Given the description of an element on the screen output the (x, y) to click on. 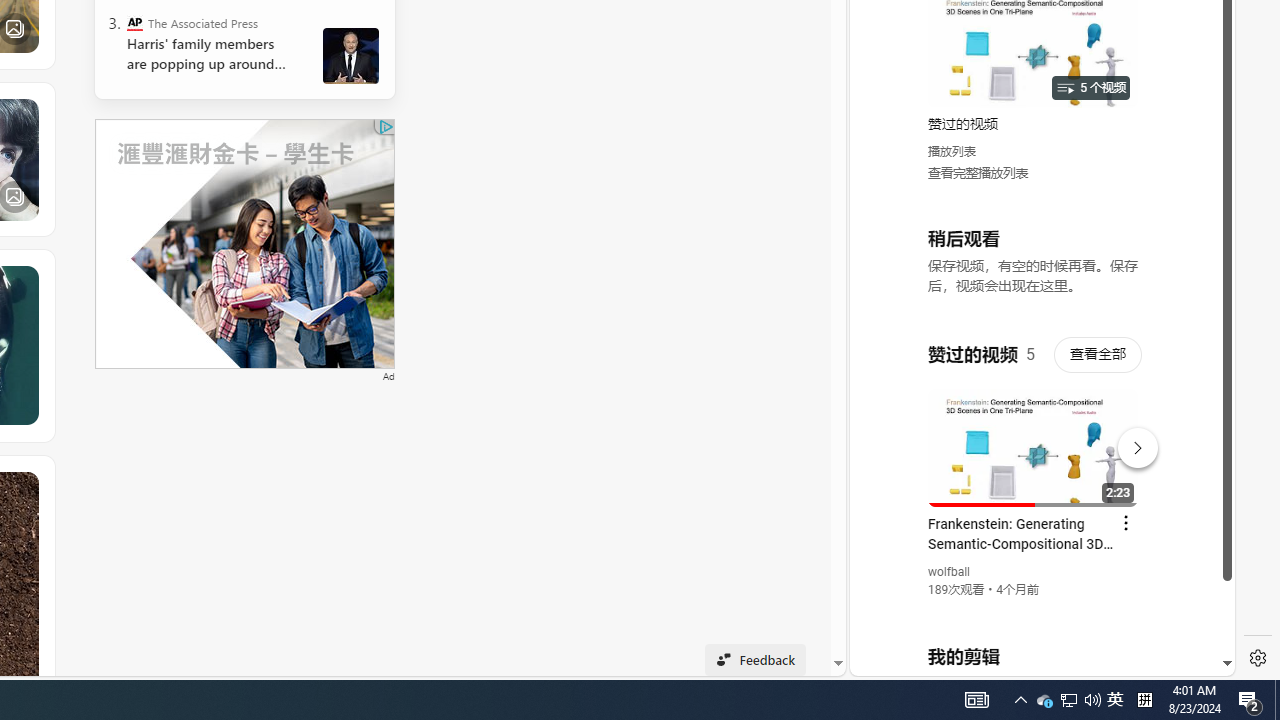
YouTube (1034, 432)
Ad (388, 374)
